Given the description of an element on the screen output the (x, y) to click on. 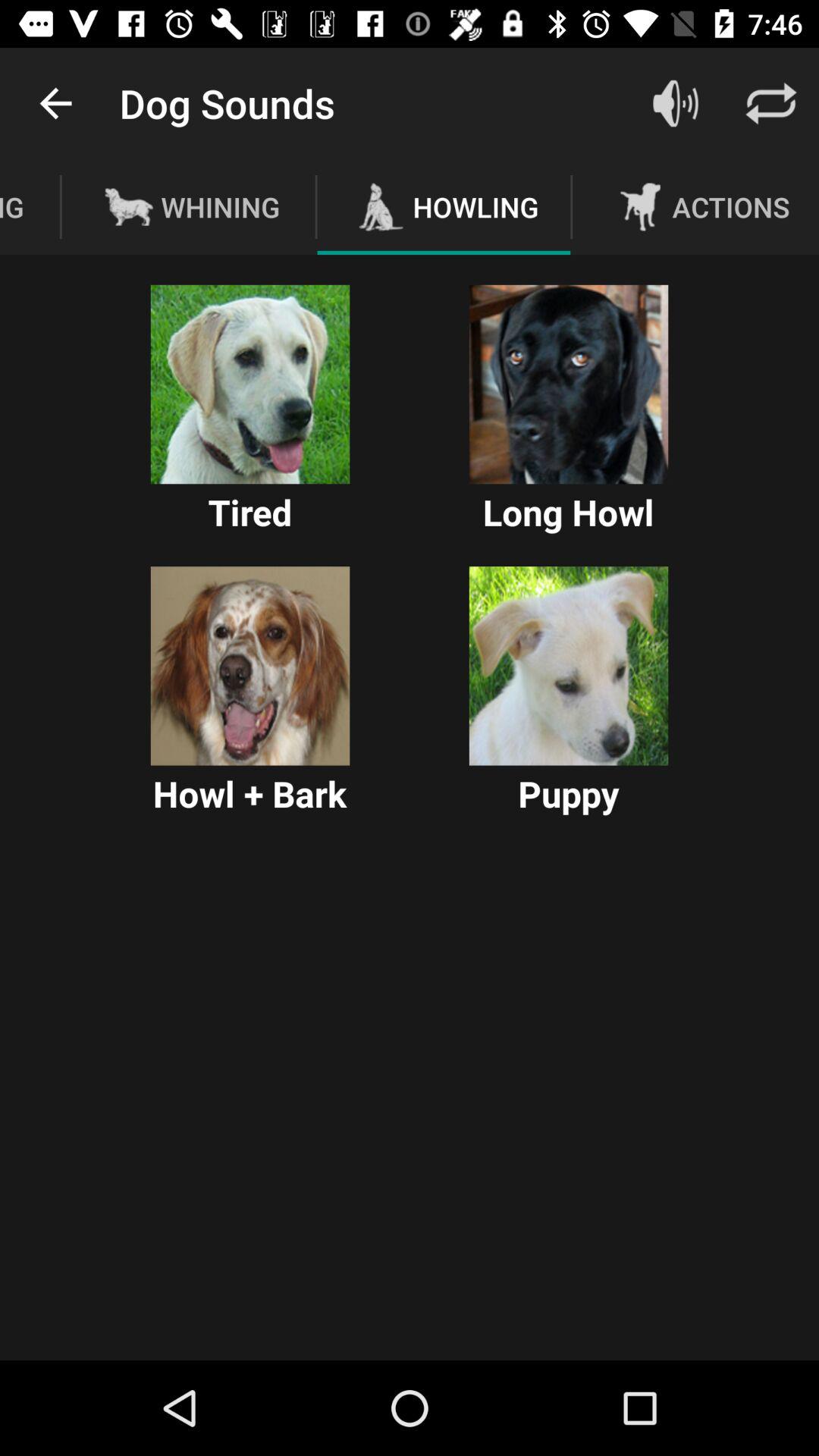
choose the icon above barking icon (55, 103)
